Given the description of an element on the screen output the (x, y) to click on. 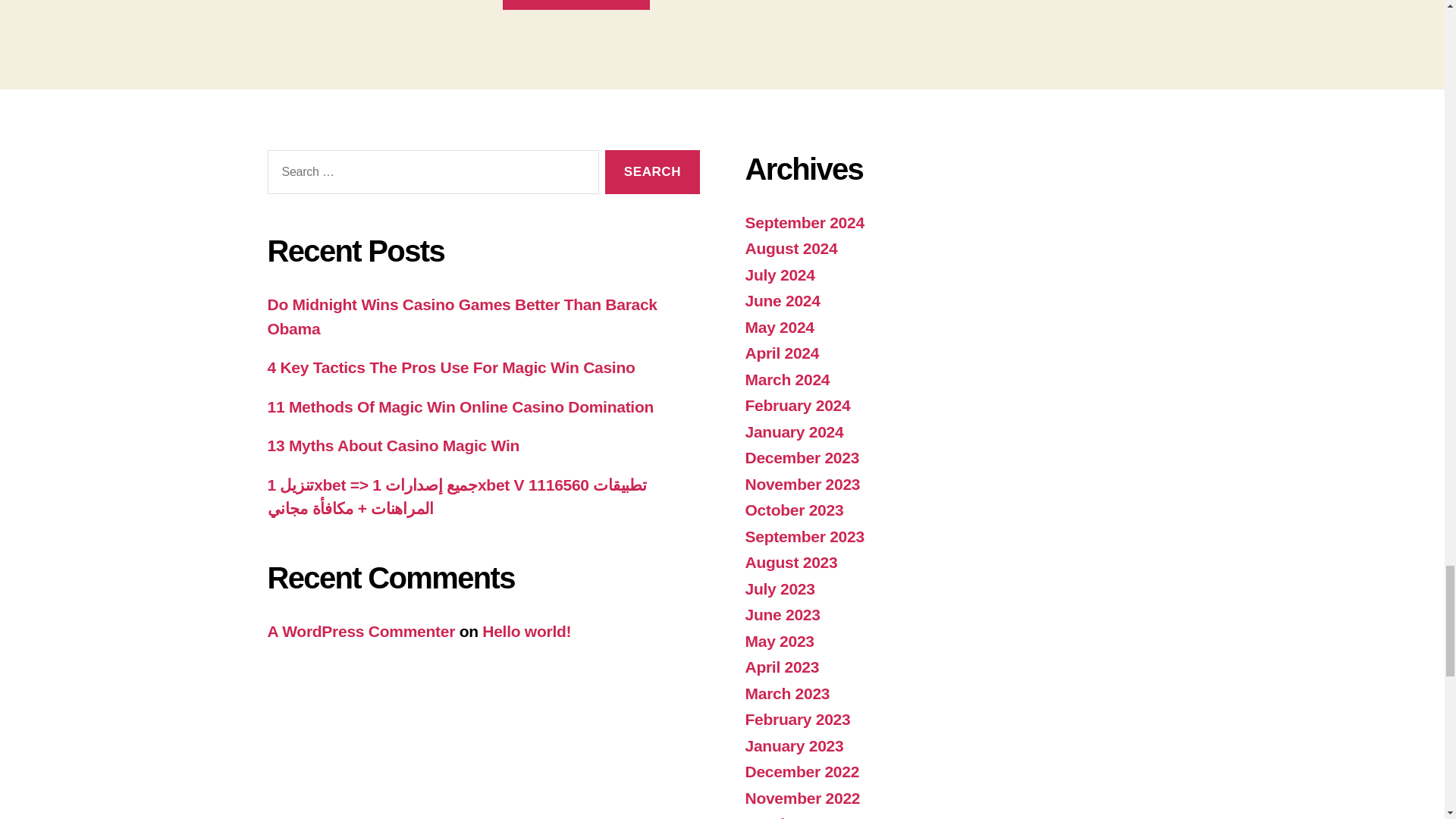
May 2024 (778, 326)
Search (651, 171)
11 Methods Of Magic Win Online Casino Domination (459, 406)
April 2024 (781, 352)
February 2024 (797, 405)
Post Comment (575, 4)
4 Key Tactics The Pros Use For Magic Win Casino (450, 366)
13 Myths About Casino Magic Win (392, 445)
Search (651, 171)
January 2024 (793, 431)
